Given the description of an element on the screen output the (x, y) to click on. 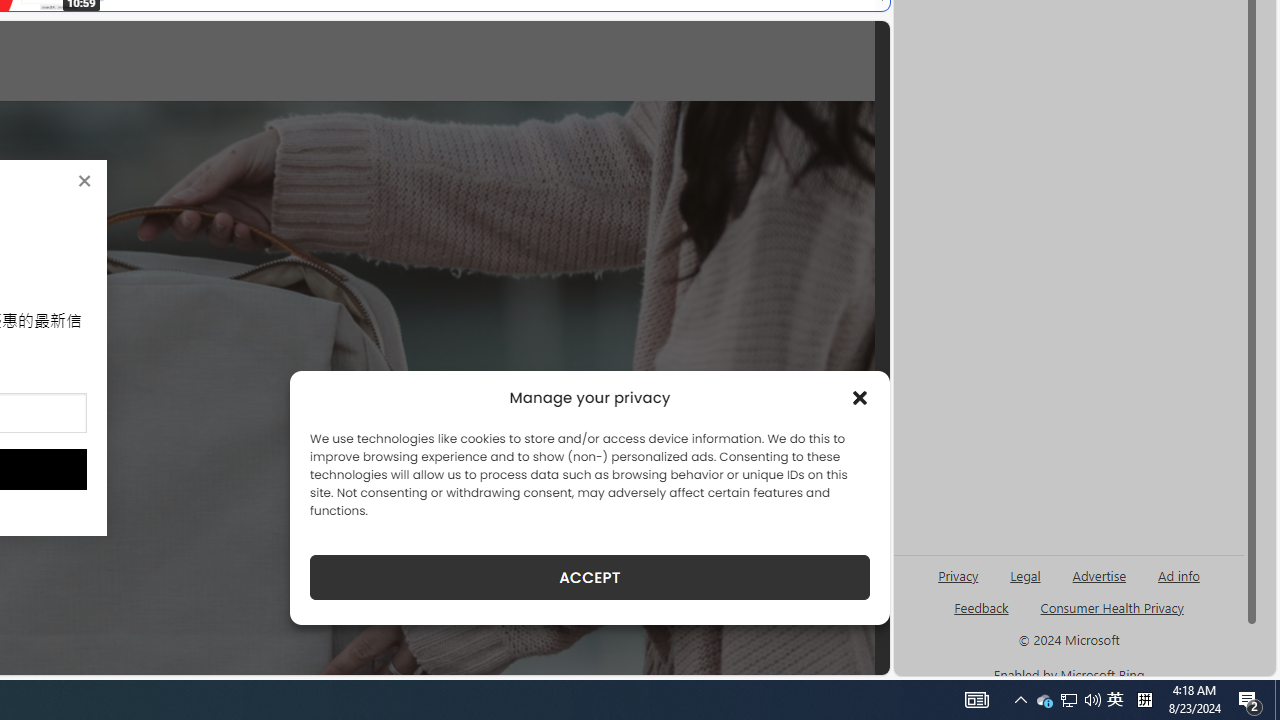
AutomationID: sb_feedback (980, 607)
Class: cmplz-close (859, 398)
ACCEPT (589, 577)
AutomationID: genId96 (981, 615)
